Given the description of an element on the screen output the (x, y) to click on. 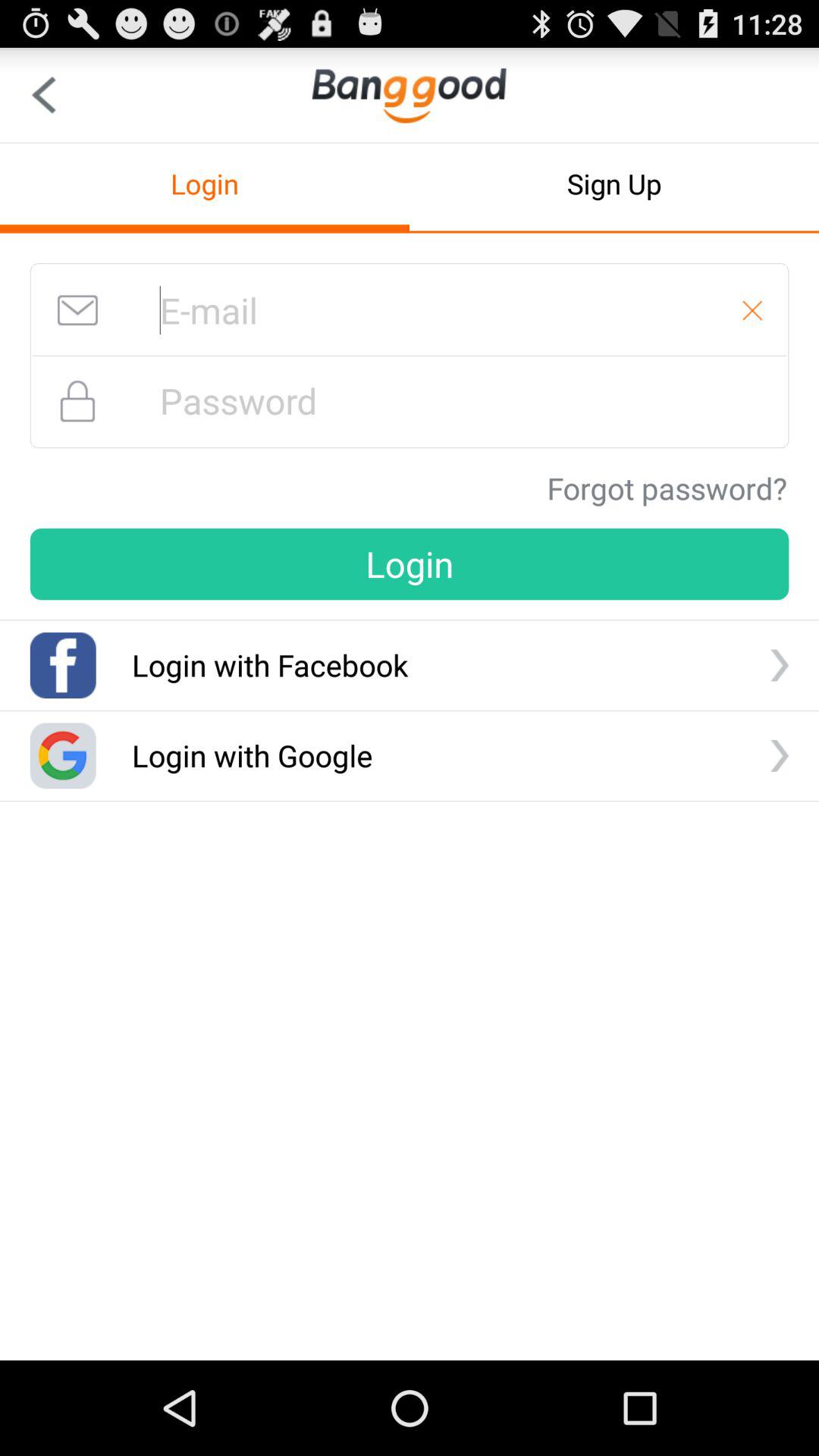
enter your password (409, 400)
